Given the description of an element on the screen output the (x, y) to click on. 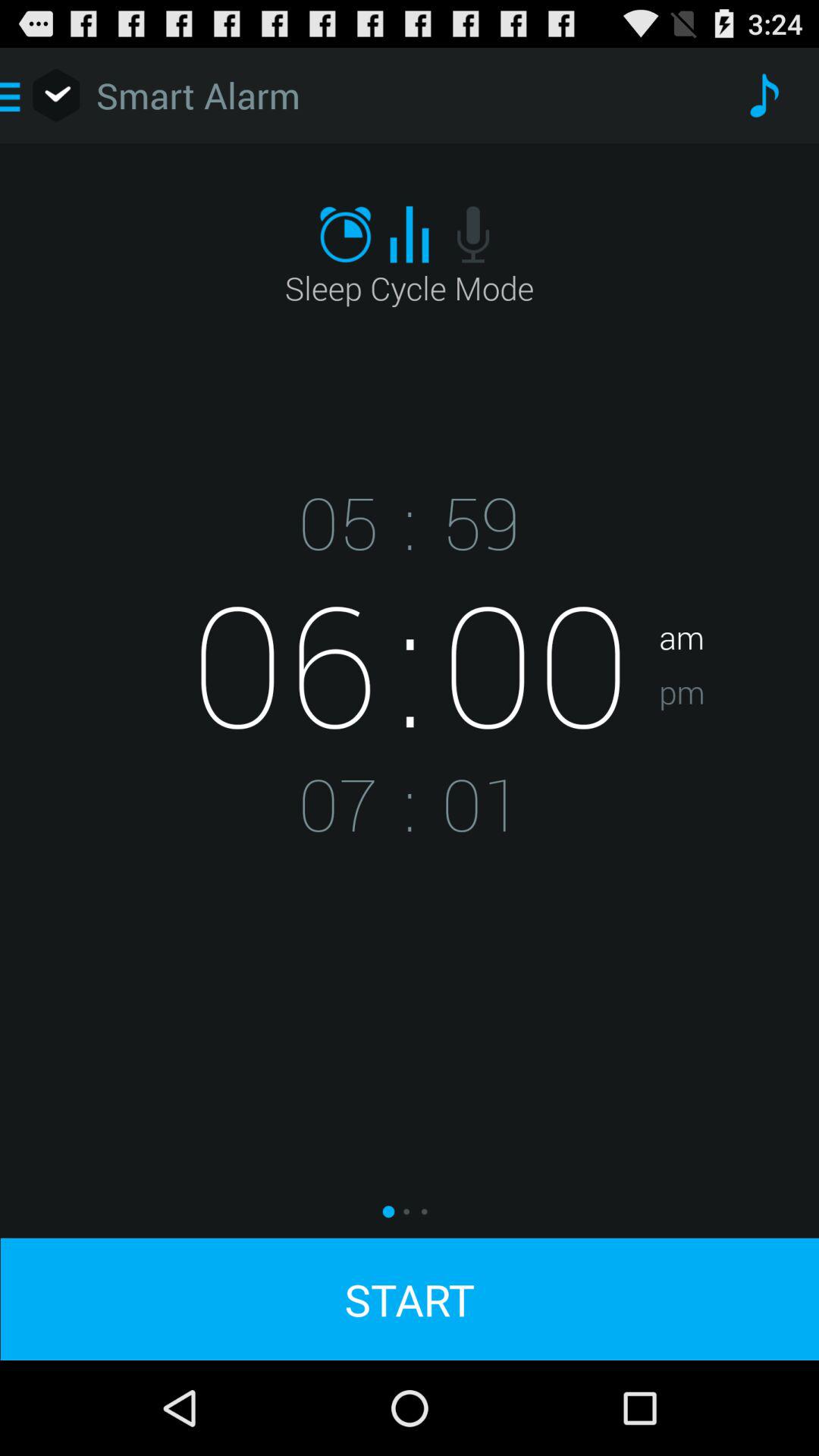
choose the pm item (739, 739)
